Given the description of an element on the screen output the (x, y) to click on. 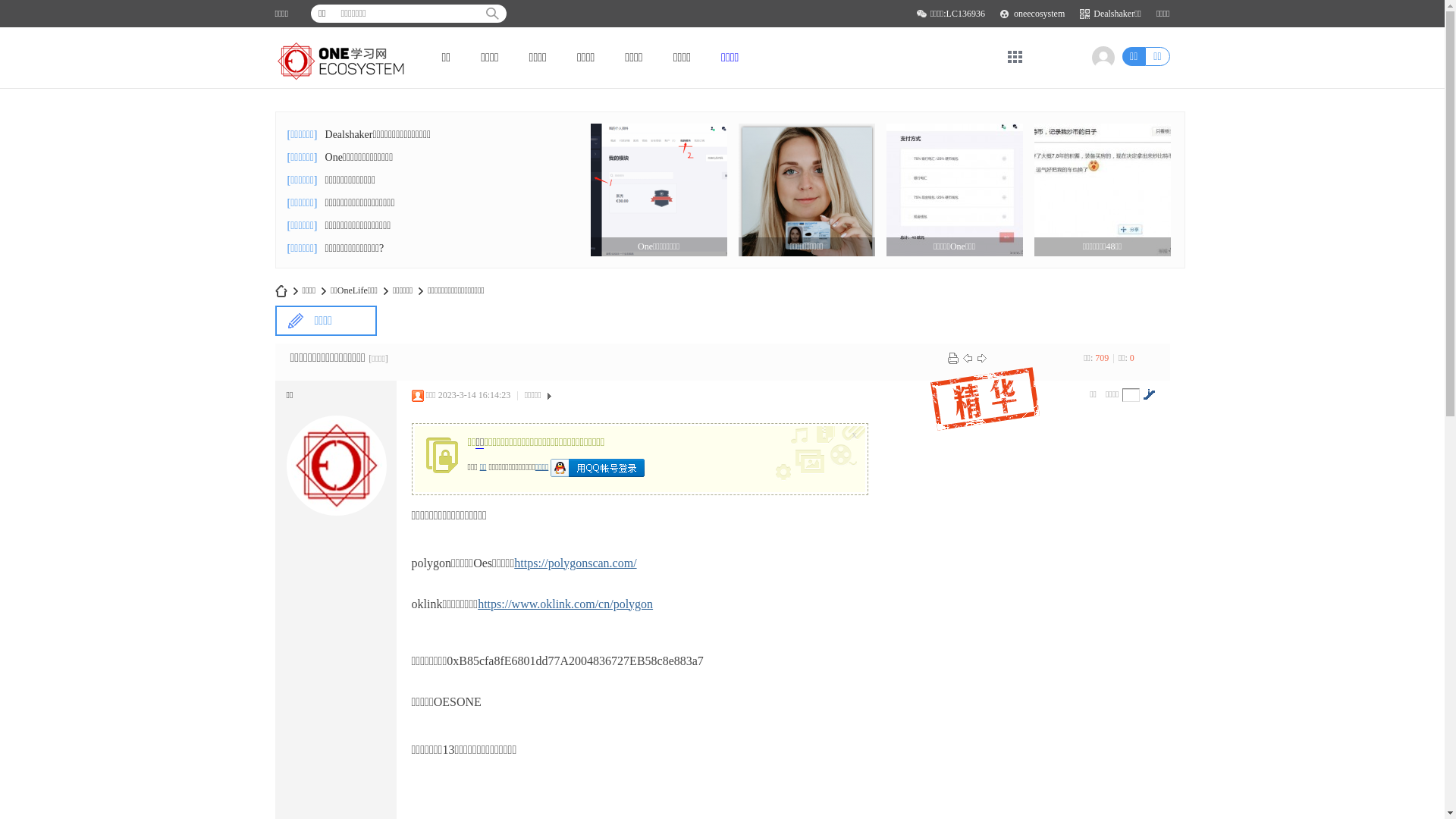
https://www.oklink.com/cn/polygon Element type: text (564, 603)
https://polygonscan.com/ Element type: text (575, 562)
oneecosystem Element type: text (1038, 13)
true Element type: text (491, 13)
x Element type: text (855, 431)
